Given the description of an element on the screen output the (x, y) to click on. 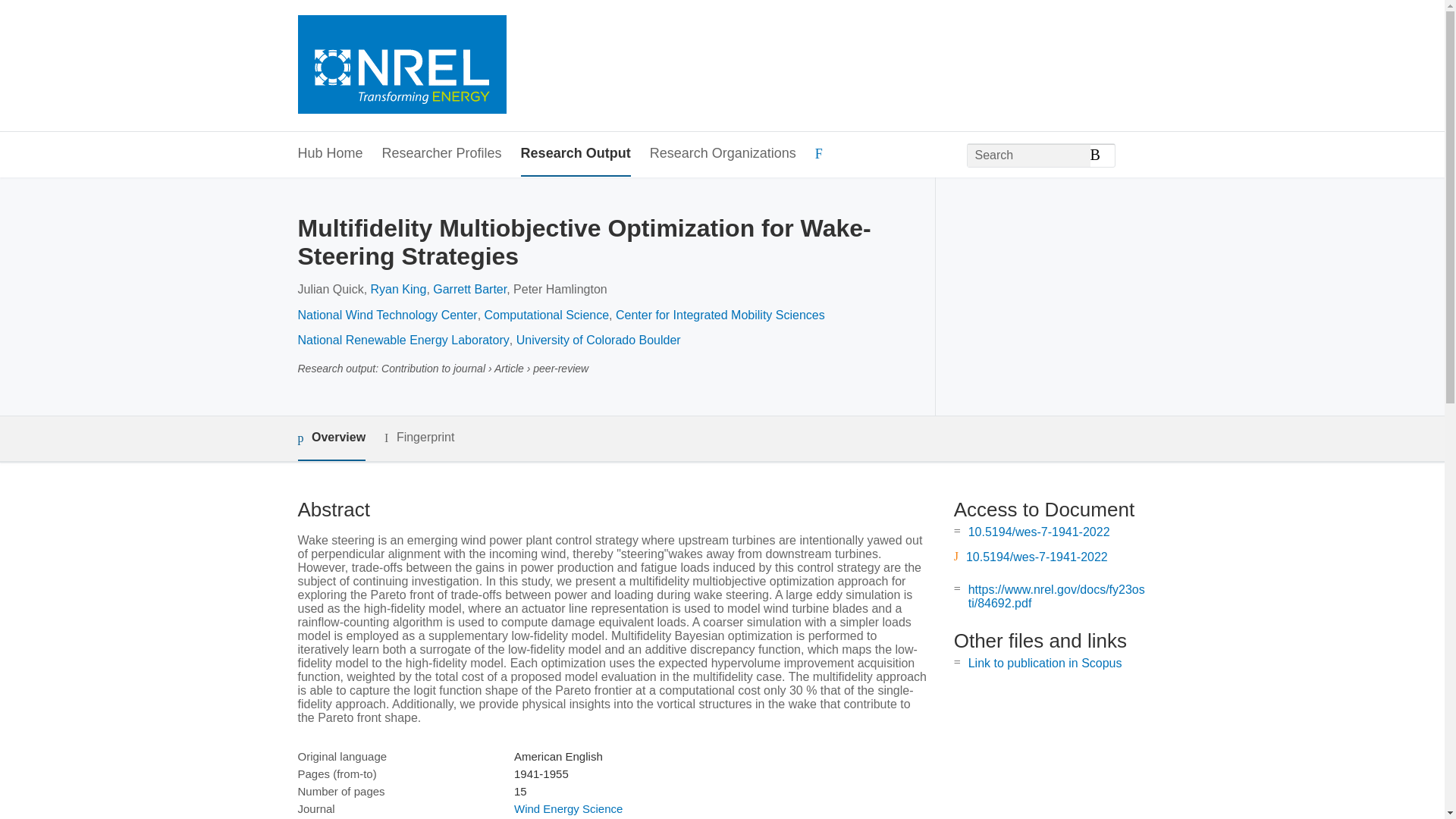
National Renewable Energy Laboratory Hub Home (401, 66)
Hub Home (329, 153)
Research Organizations (722, 153)
Garrett Barter (469, 288)
Center for Integrated Mobility Sciences (720, 314)
Fingerprint (419, 437)
Ryan King (398, 288)
National Wind Technology Center (387, 314)
Researcher Profiles (441, 153)
Computational Science (547, 314)
Overview (331, 438)
Research Output (575, 153)
University of Colorado Boulder (598, 339)
National Renewable Energy Laboratory (402, 339)
